Given the description of an element on the screen output the (x, y) to click on. 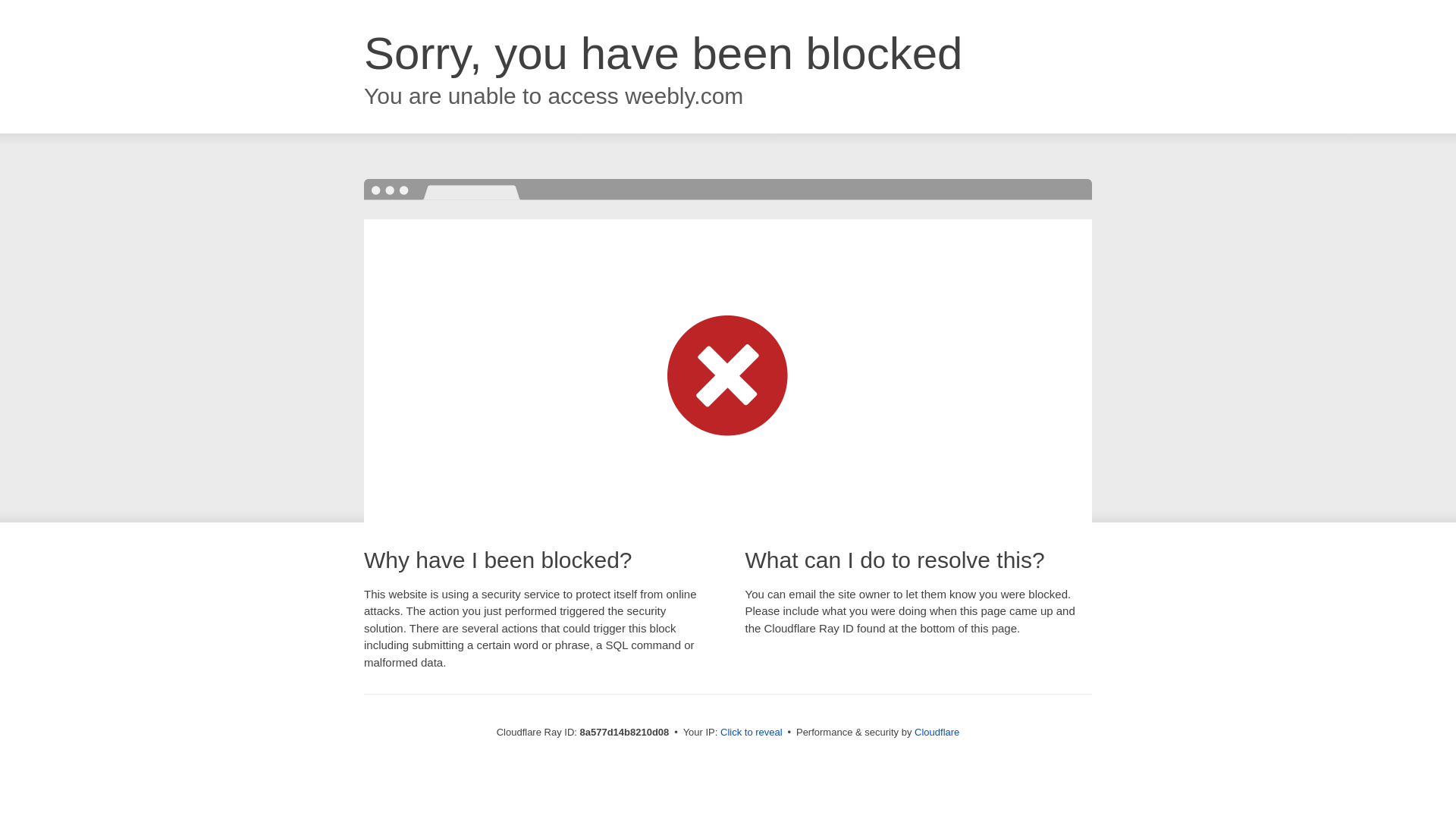
Click to reveal (751, 732)
Cloudflare (936, 731)
